Given the description of an element on the screen output the (x, y) to click on. 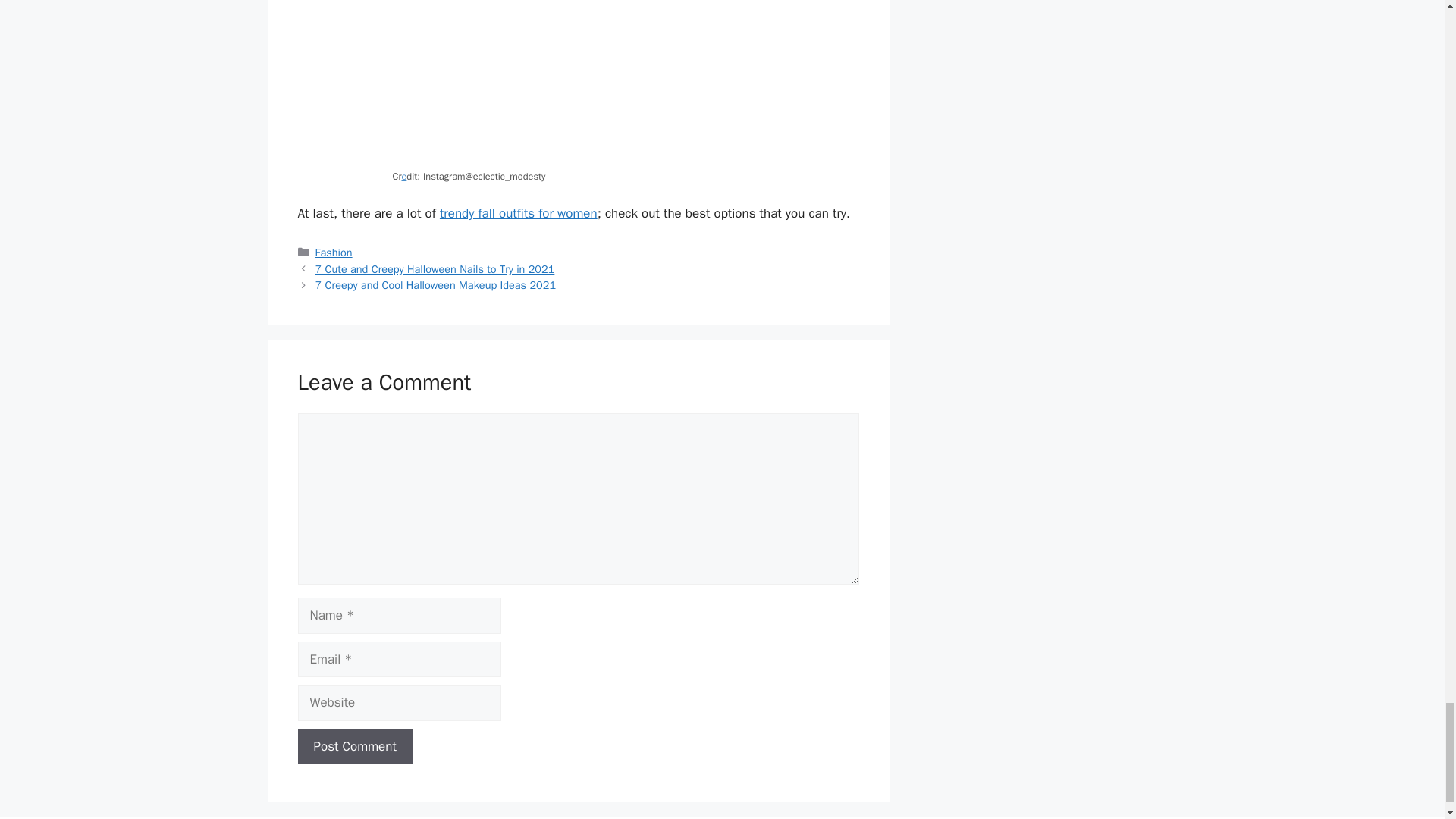
Post Comment (354, 746)
Fashion (333, 252)
7 Cute and Creepy Halloween Nails to Try in 2021 (434, 269)
Post Comment (354, 746)
Dainty Dress with a Cardigan (578, 83)
7 Creepy and Cool Halloween Makeup Ideas 2021 (435, 284)
trendy fall outfits for women (517, 213)
